Given the description of an element on the screen output the (x, y) to click on. 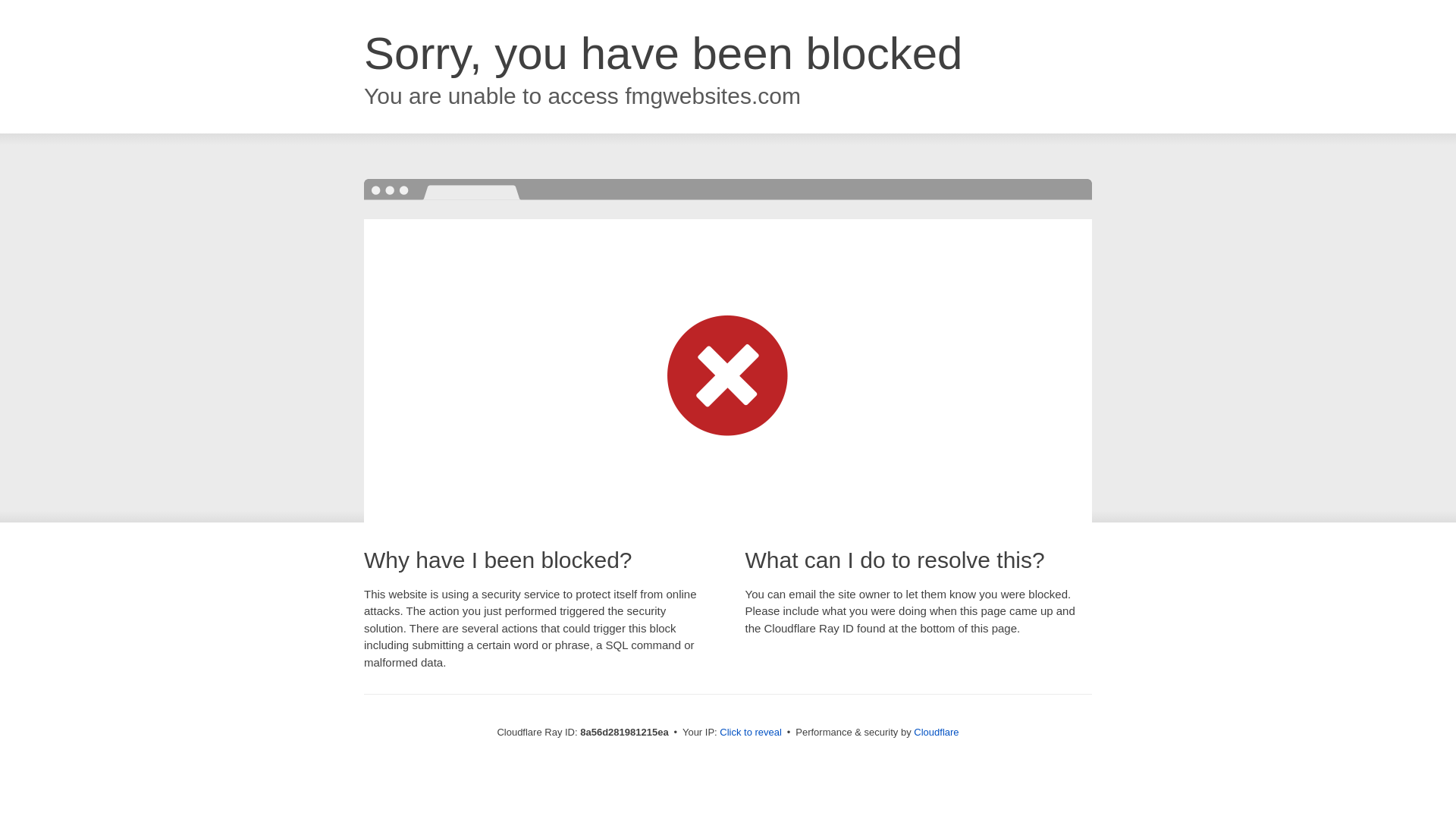
Cloudflare (936, 731)
Click to reveal (750, 732)
